Given the description of an element on the screen output the (x, y) to click on. 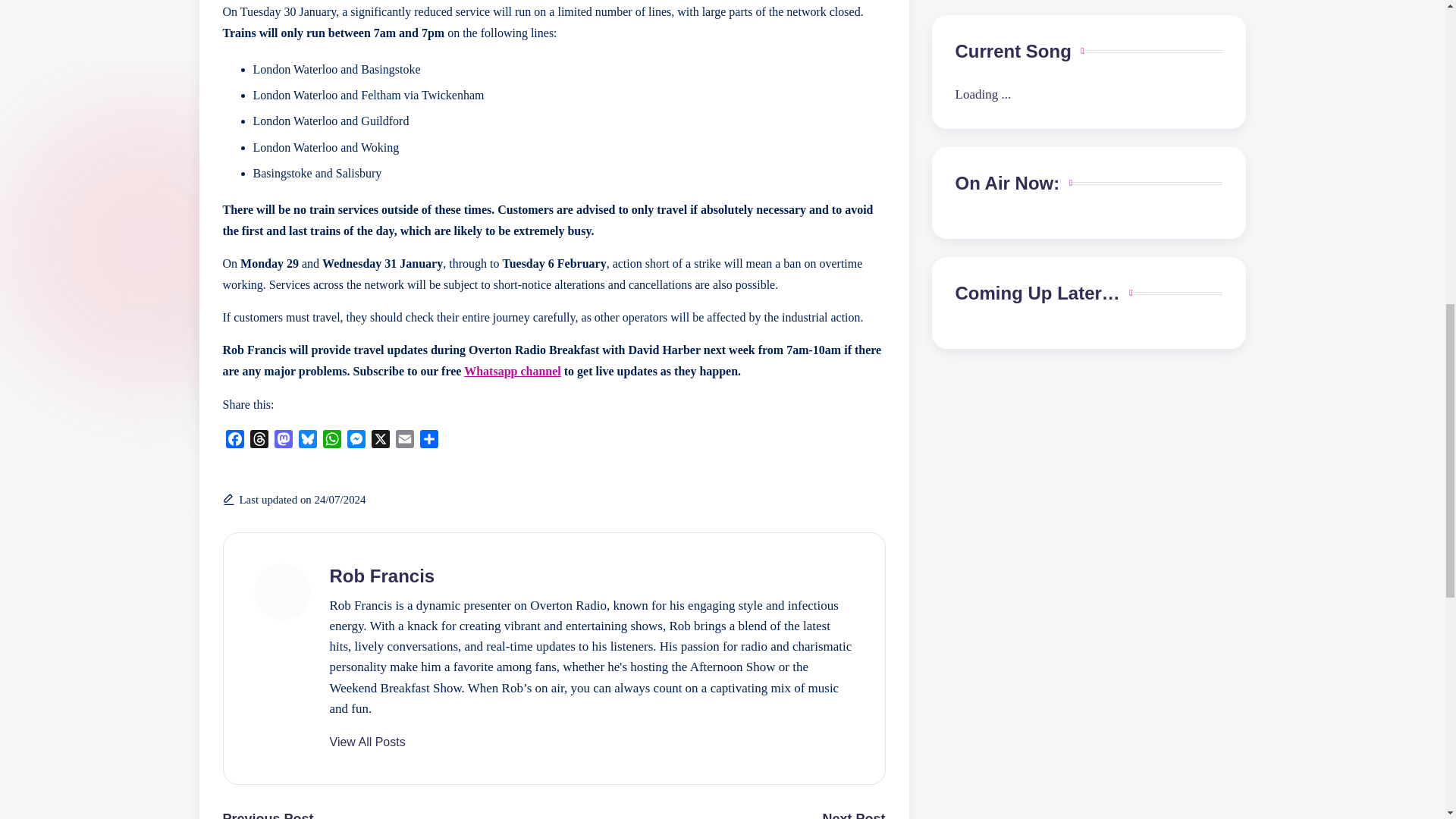
Email (404, 438)
WhatsApp (331, 438)
Bluesky (307, 438)
Threads (258, 438)
Rob Francis (381, 575)
X (380, 438)
Mastodon (282, 438)
Messenger (355, 438)
X (380, 438)
Facebook (234, 438)
Bluesky (307, 438)
Email (404, 438)
Threads (258, 438)
Mastodon (282, 438)
Whatsapp channel (512, 370)
